Given the description of an element on the screen output the (x, y) to click on. 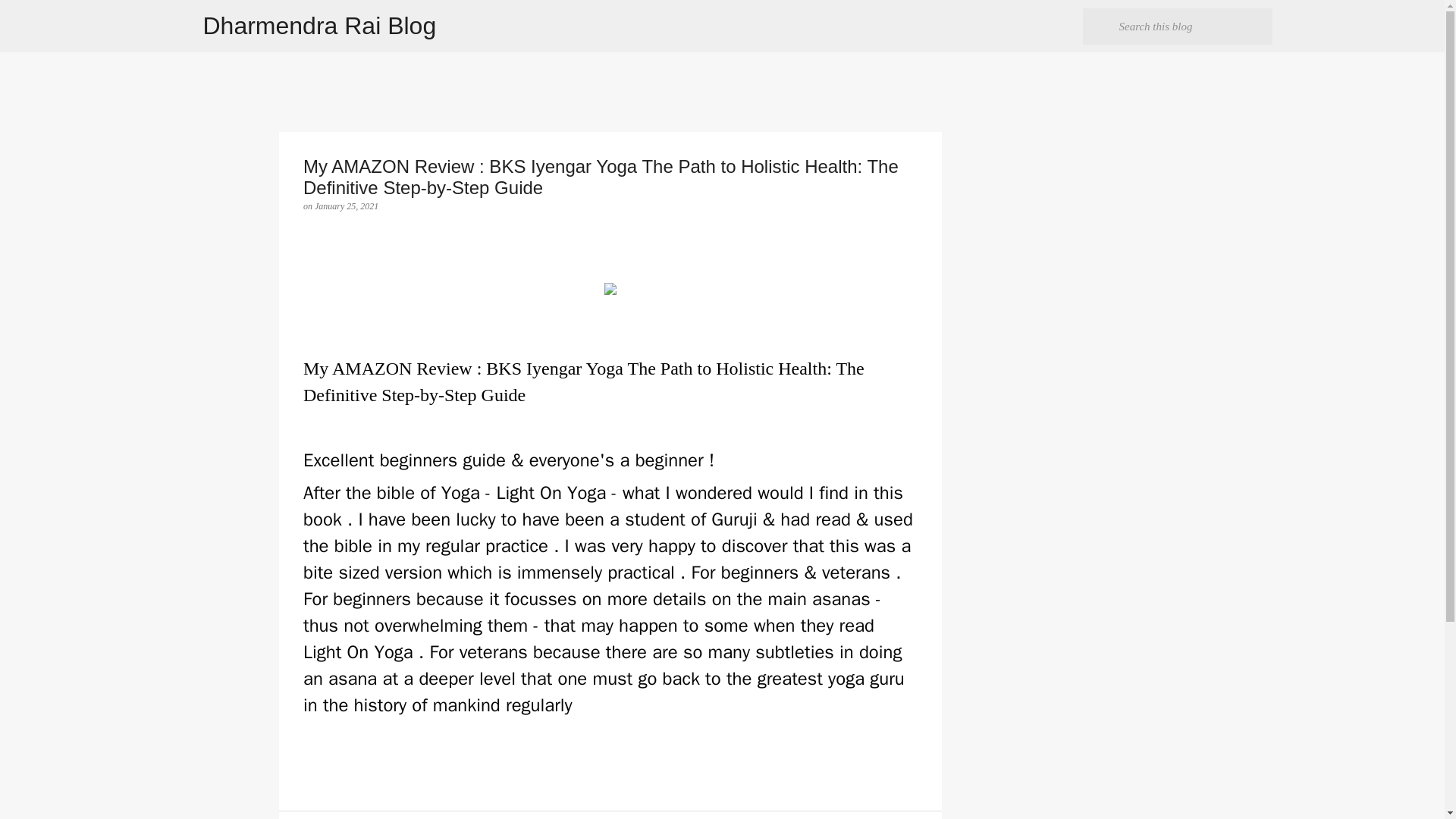
permanent link (346, 205)
Dharmendra Rai Blog (319, 25)
January 25, 2021 (346, 205)
